Given the description of an element on the screen output the (x, y) to click on. 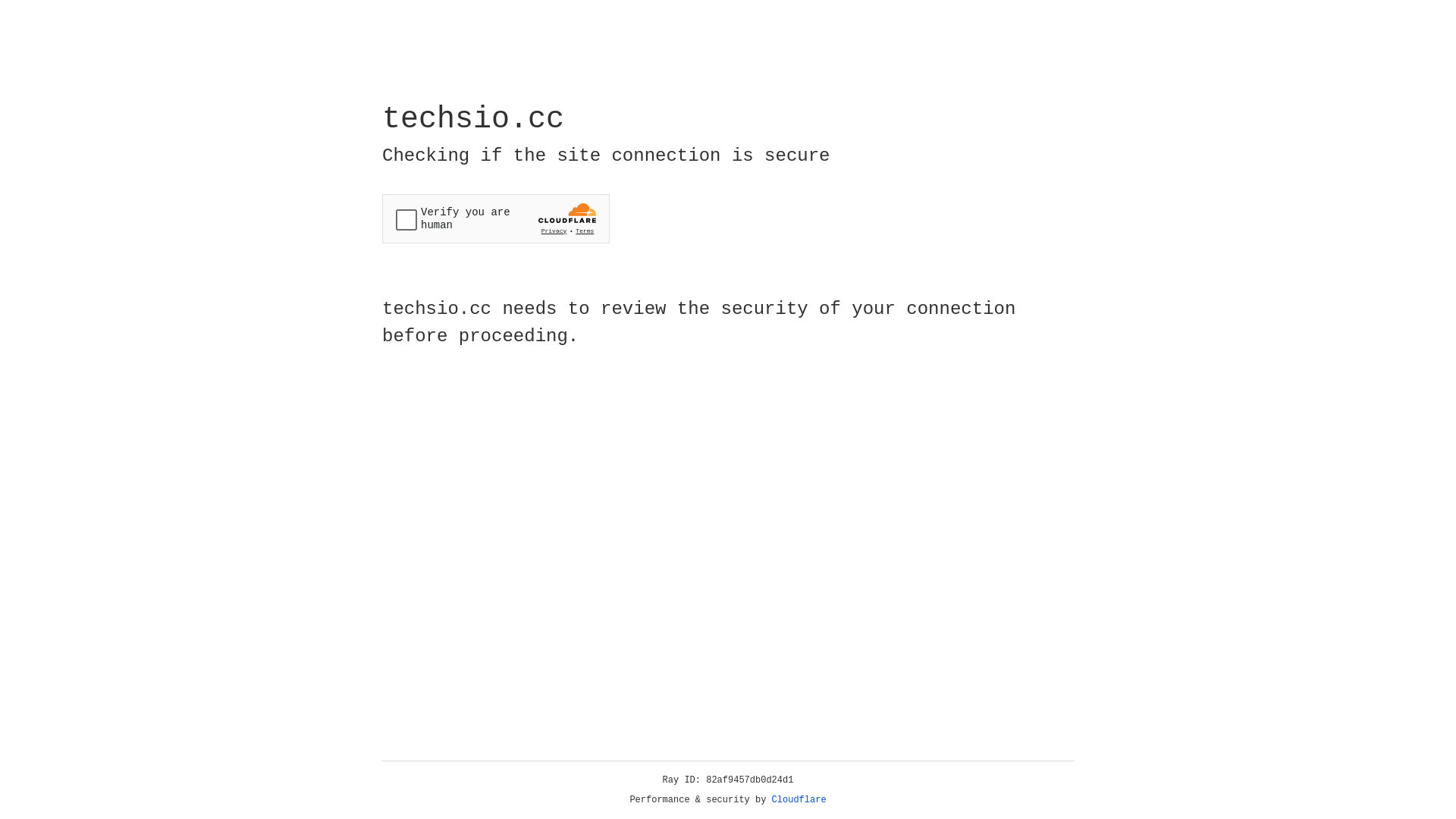
Cloudflare Element type: text (798, 799)
Widget containing a Cloudflare security challenge Element type: hover (495, 218)
